Given the description of an element on the screen output the (x, y) to click on. 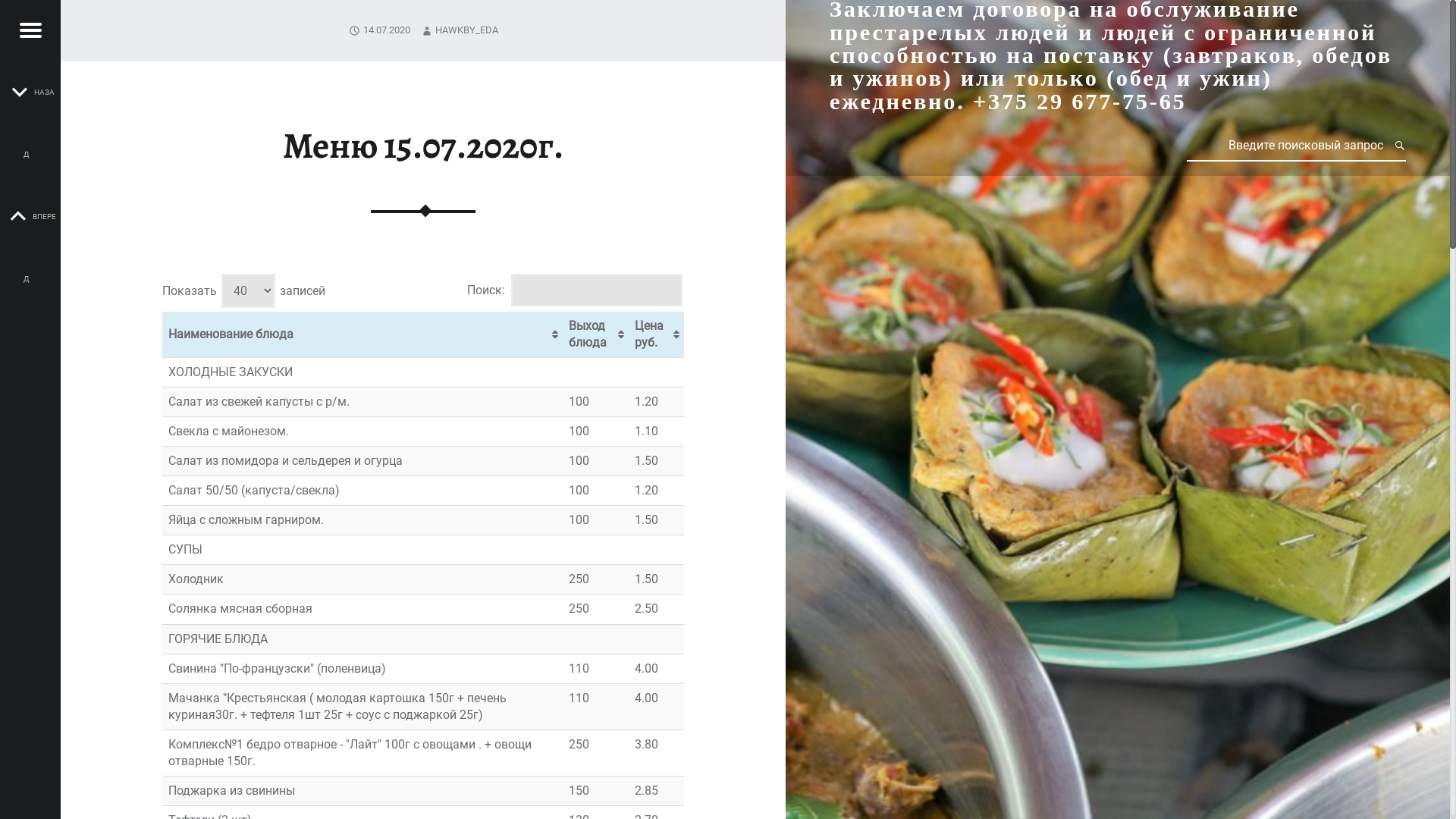
HAWKBY_EDA Element type: text (466, 29)
